Given the description of an element on the screen output the (x, y) to click on. 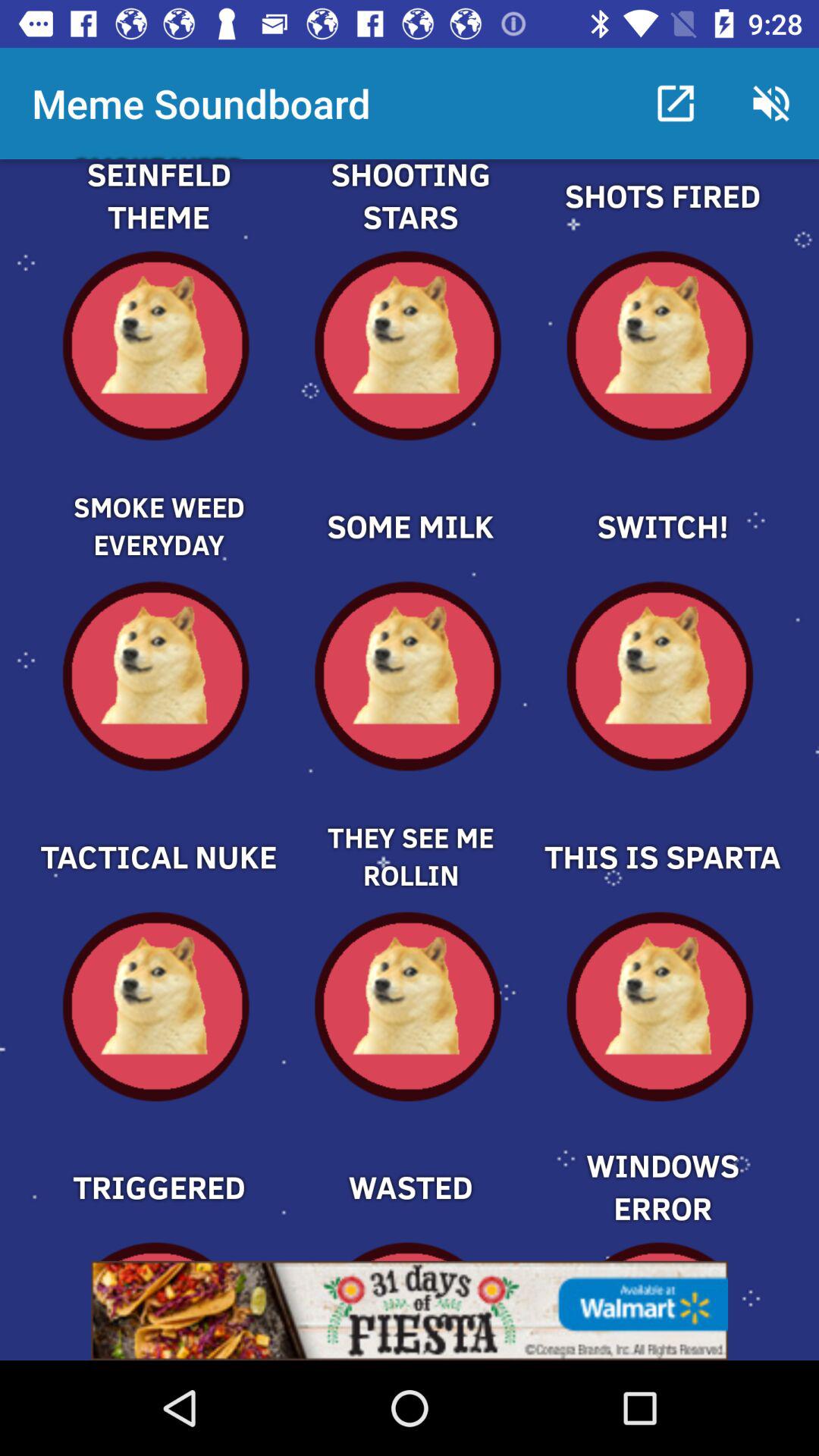
there has been a windows error (660, 1160)
